Given the description of an element on the screen output the (x, y) to click on. 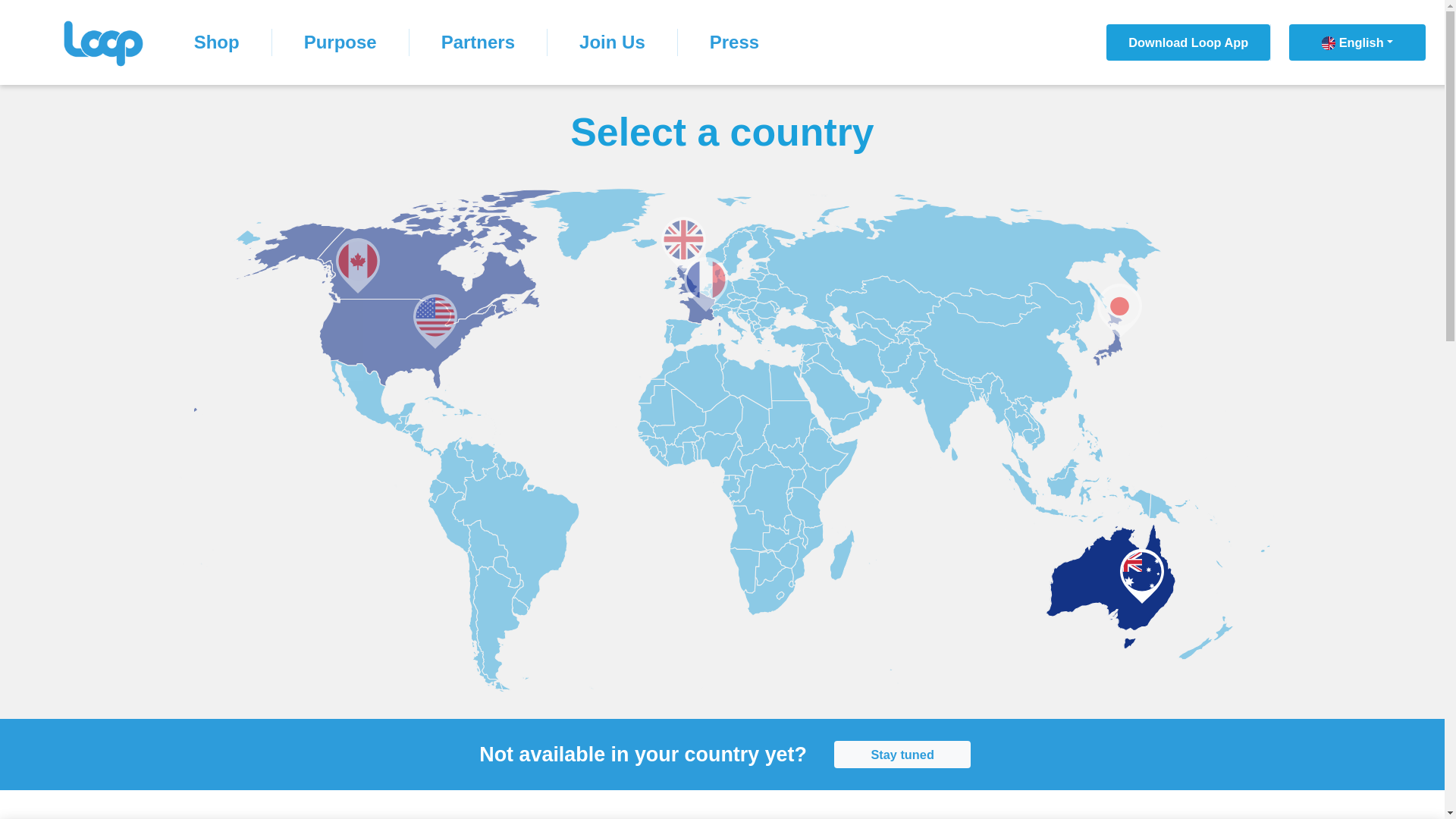
Press Element type: text (733, 42)
Join Us Element type: text (612, 42)
Purpose Element type: text (340, 42)
Download Loop App Element type: text (1188, 42)
Stay tuned Element type: text (902, 754)
Partners Element type: text (478, 42)
Stay tuned Element type: text (891, 754)
Download Loop App Element type: text (1188, 42)
Shop Element type: text (217, 42)
English Element type: text (1357, 42)
